Given the description of an element on the screen output the (x, y) to click on. 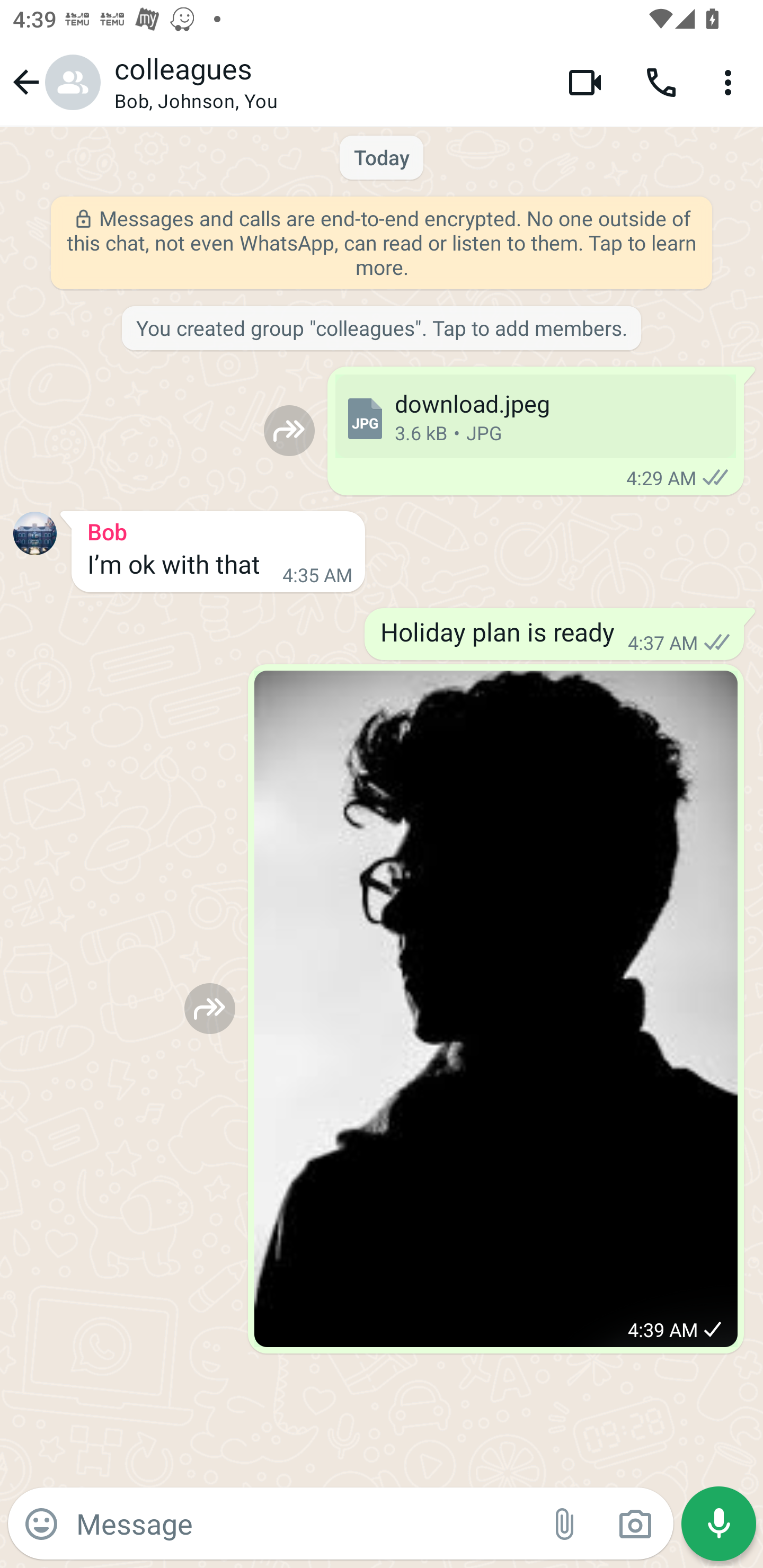
colleagues Bob, Johnson, You (327, 82)
Navigate up (54, 82)
Video call (585, 81)
Voice call (661, 81)
More options (731, 81)
download.jpeg 3.6 kB • JPG (535, 415)
Forward to… (288, 430)
Profile picture for Bob (34, 533)
Bob (217, 529)
View photo (495, 1008)
Forward to… (209, 1008)
Emoji (41, 1523)
Attach (565, 1523)
Camera (634, 1523)
Message (303, 1523)
